Given the description of an element on the screen output the (x, y) to click on. 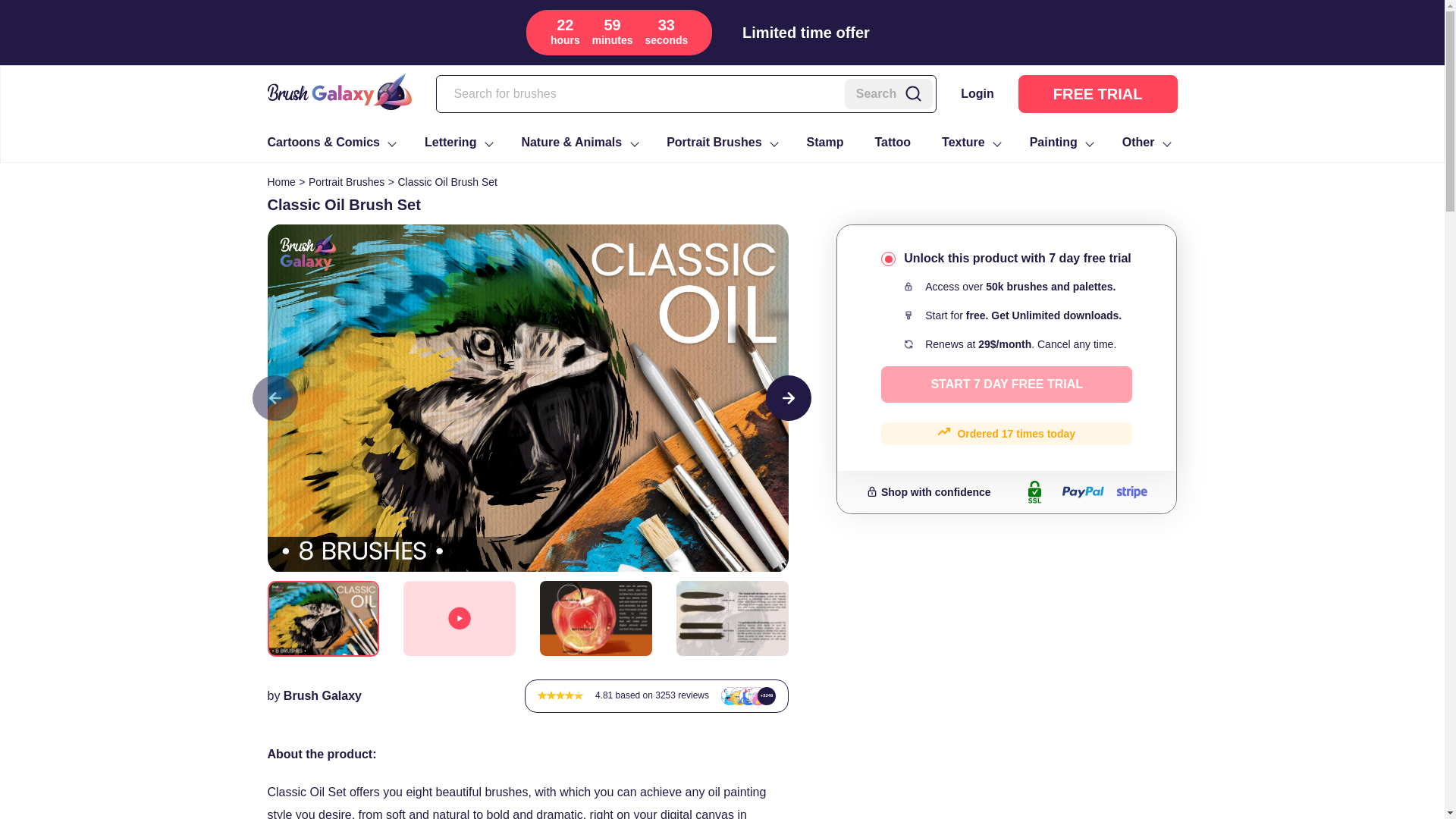
Portrait Brushes (720, 143)
Tattoo (893, 143)
Stamp (825, 143)
Texture (970, 143)
Portrait Brushes (346, 182)
Lettering (457, 143)
Login (977, 93)
FREE TRIAL (1097, 94)
Other (1145, 143)
Search (888, 93)
Painting (1059, 143)
Home (280, 182)
